Given the description of an element on the screen output the (x, y) to click on. 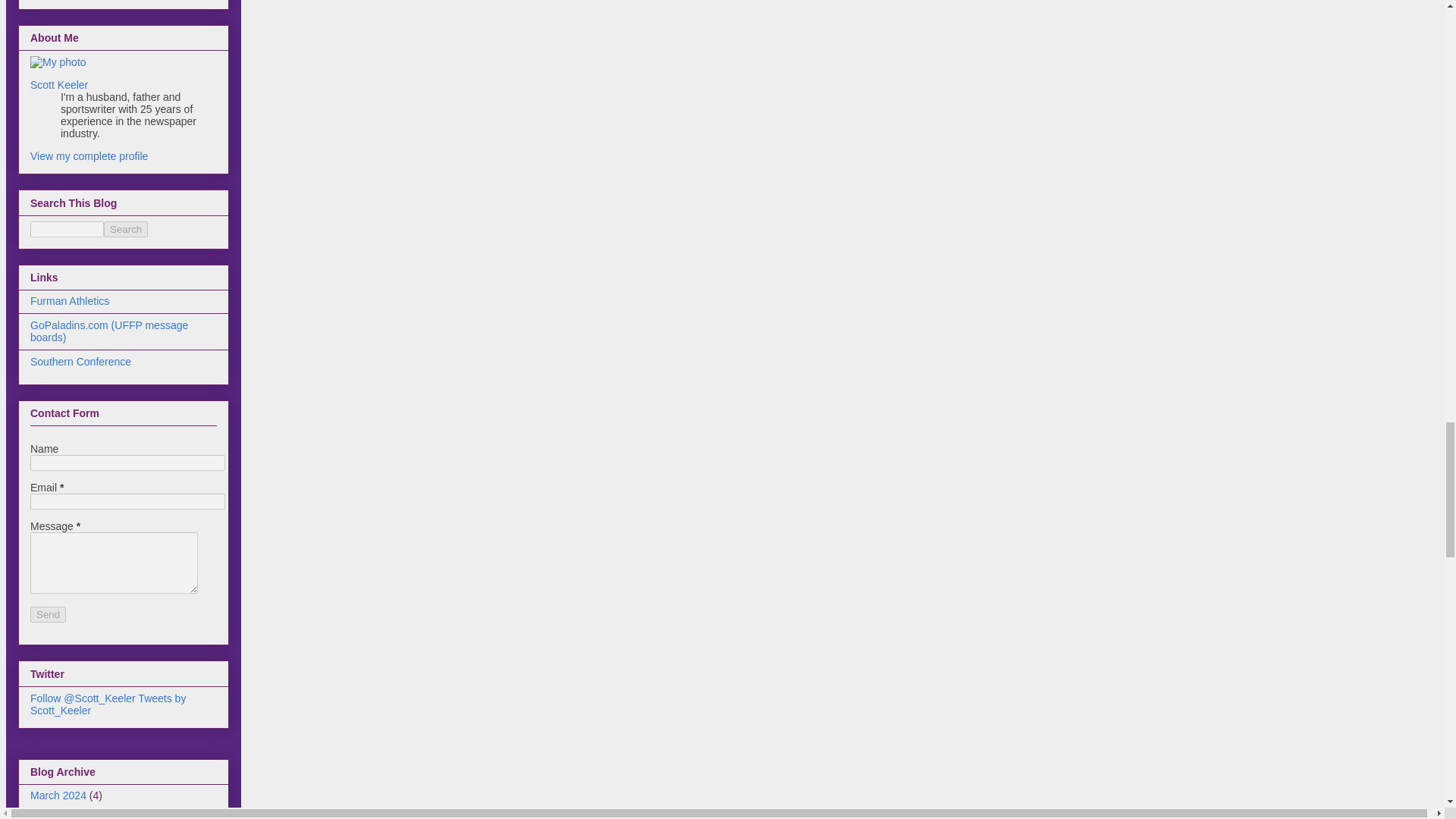
Scott Keeler (58, 84)
Send (47, 614)
Furman Athletics (69, 300)
Search (125, 229)
Search (125, 229)
February 2024 (64, 816)
March 2024 (57, 795)
Search (125, 229)
Southern Conference (80, 361)
search (125, 229)
View my complete profile (89, 155)
search (66, 229)
